Given the description of an element on the screen output the (x, y) to click on. 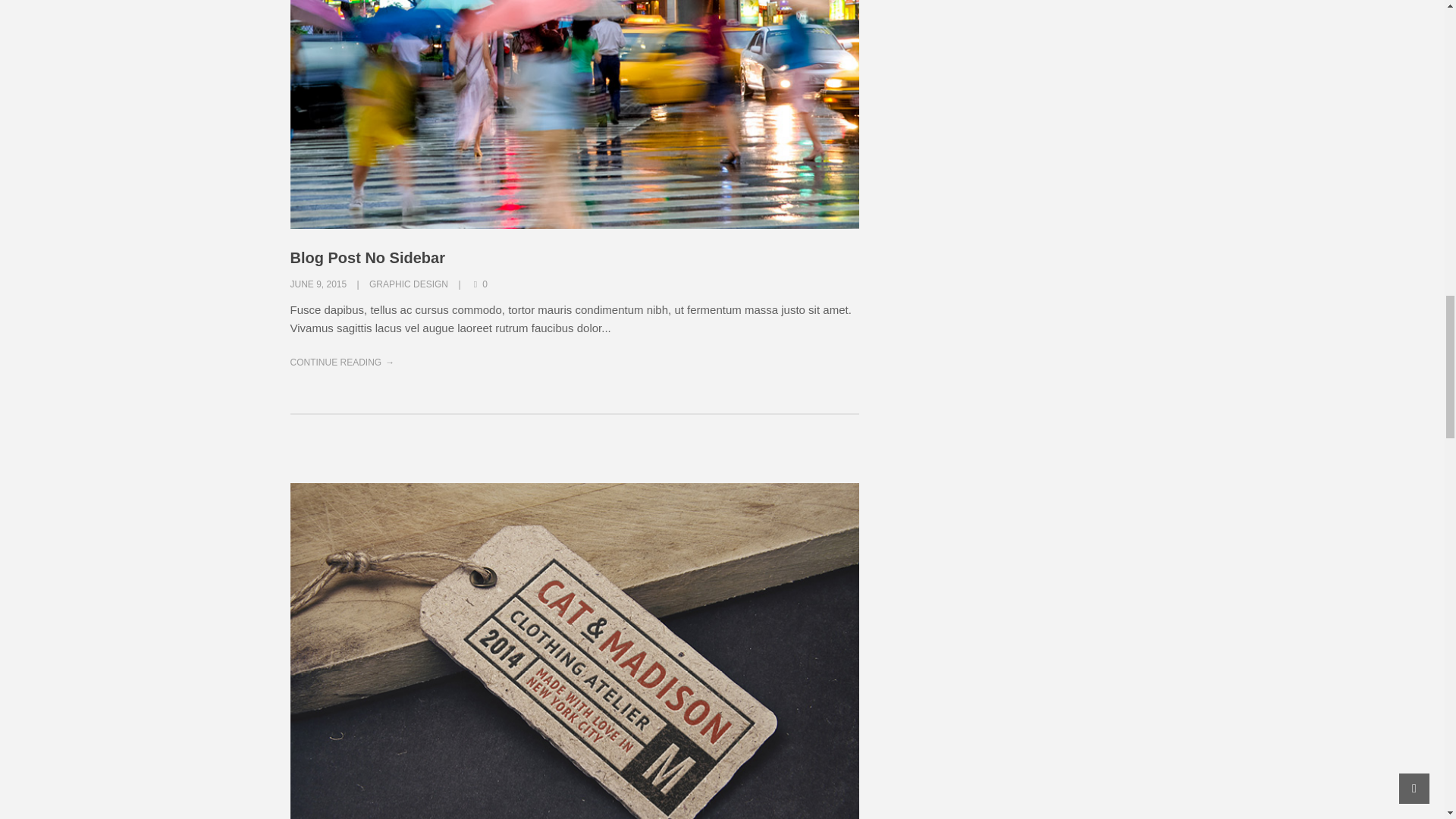
CONTINUE READING (341, 361)
0 (478, 284)
Blog Post No Sidebar (366, 257)
GRAPHIC DESIGN (408, 284)
